Given the description of an element on the screen output the (x, y) to click on. 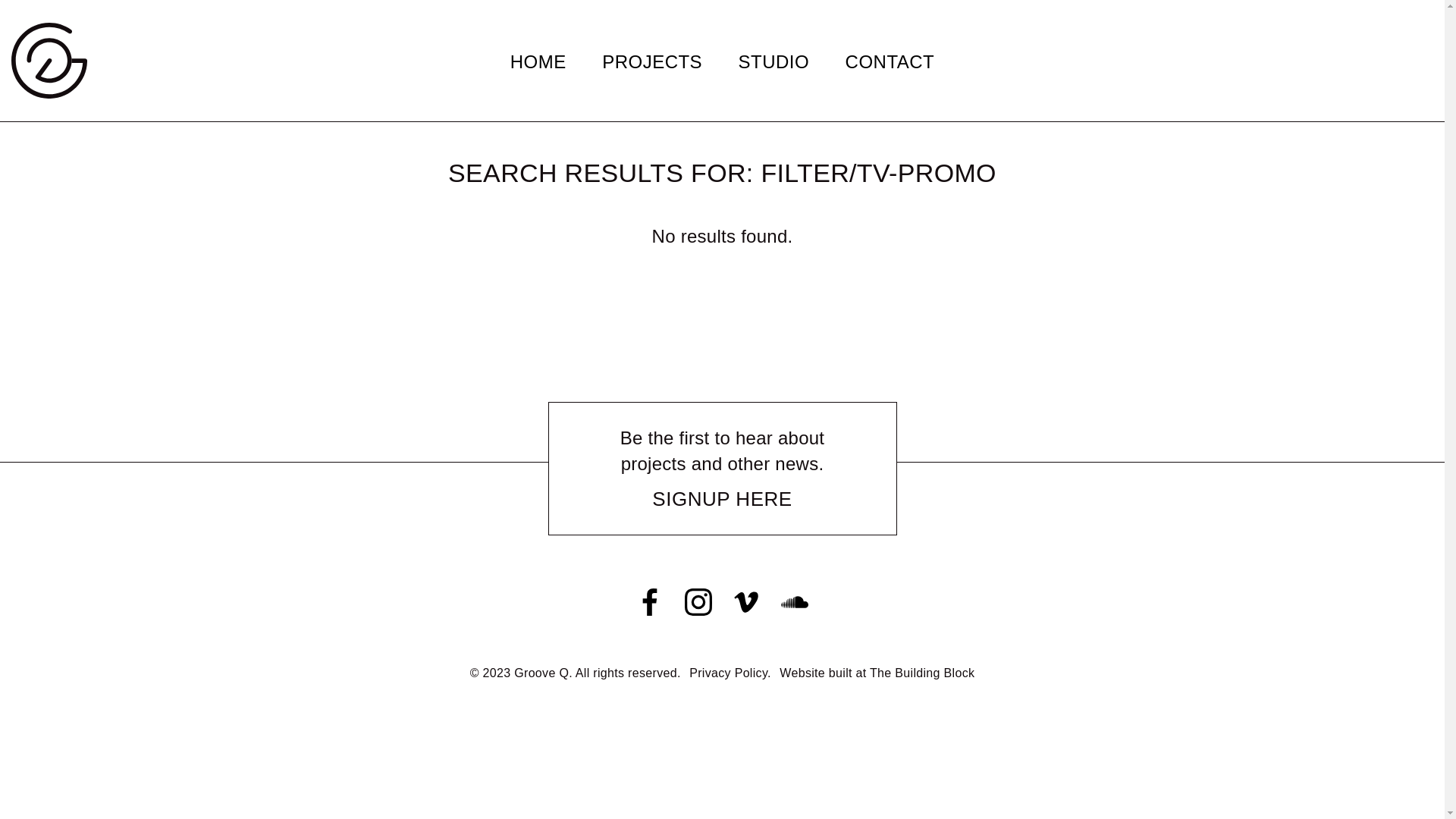
HOME Element type: text (538, 61)
SIGNUP HERE Element type: text (721, 499)
Website built at The Building Block Element type: text (876, 672)
PROJECTS Element type: text (652, 61)
STUDIO Element type: text (773, 61)
Privacy Policy. Element type: text (730, 672)
CONTACT Element type: text (890, 61)
Home Page Element type: hover (49, 60)
